Given the description of an element on the screen output the (x, y) to click on. 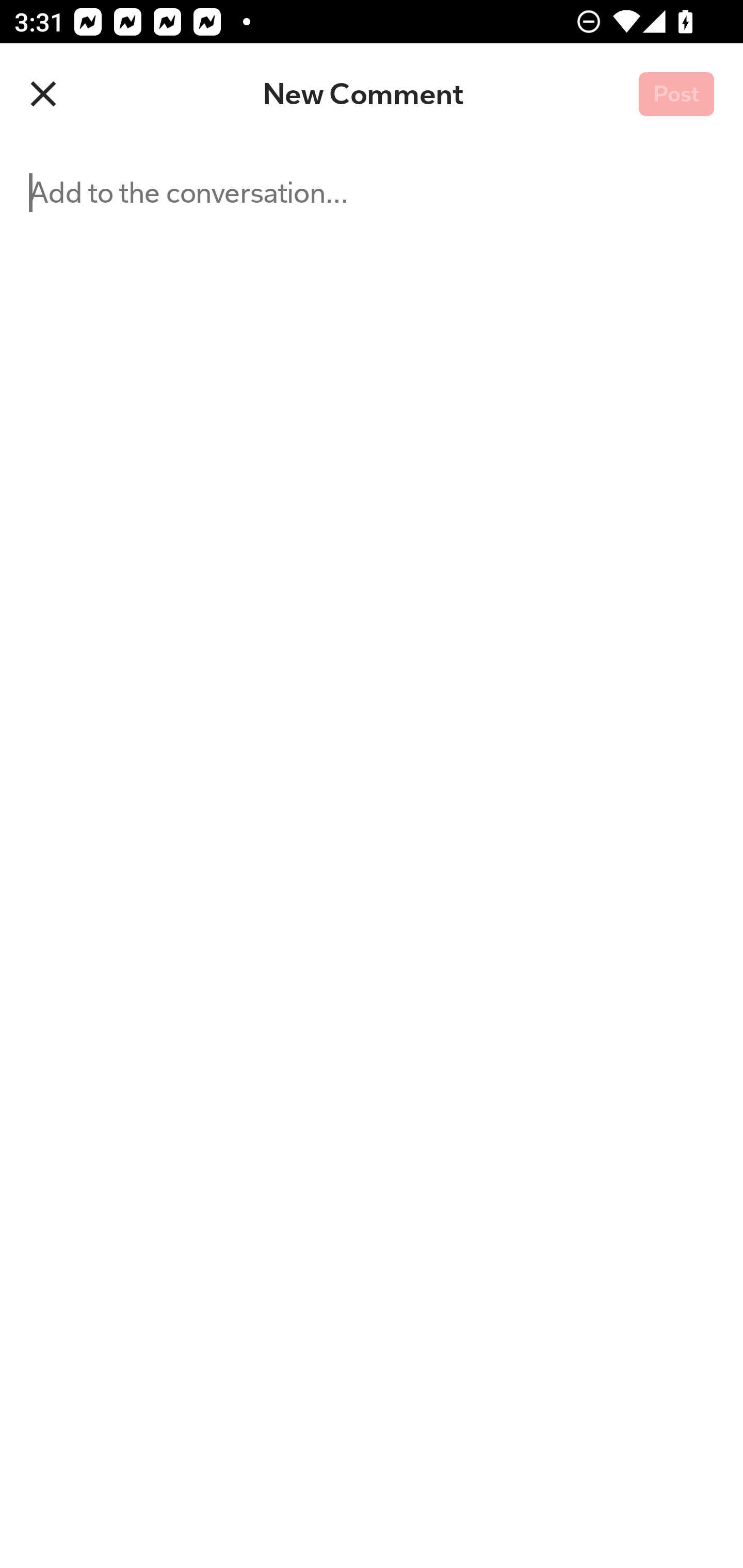
Post (676, 94)
Add to the conversation… (252, 856)
